Given the description of an element on the screen output the (x, y) to click on. 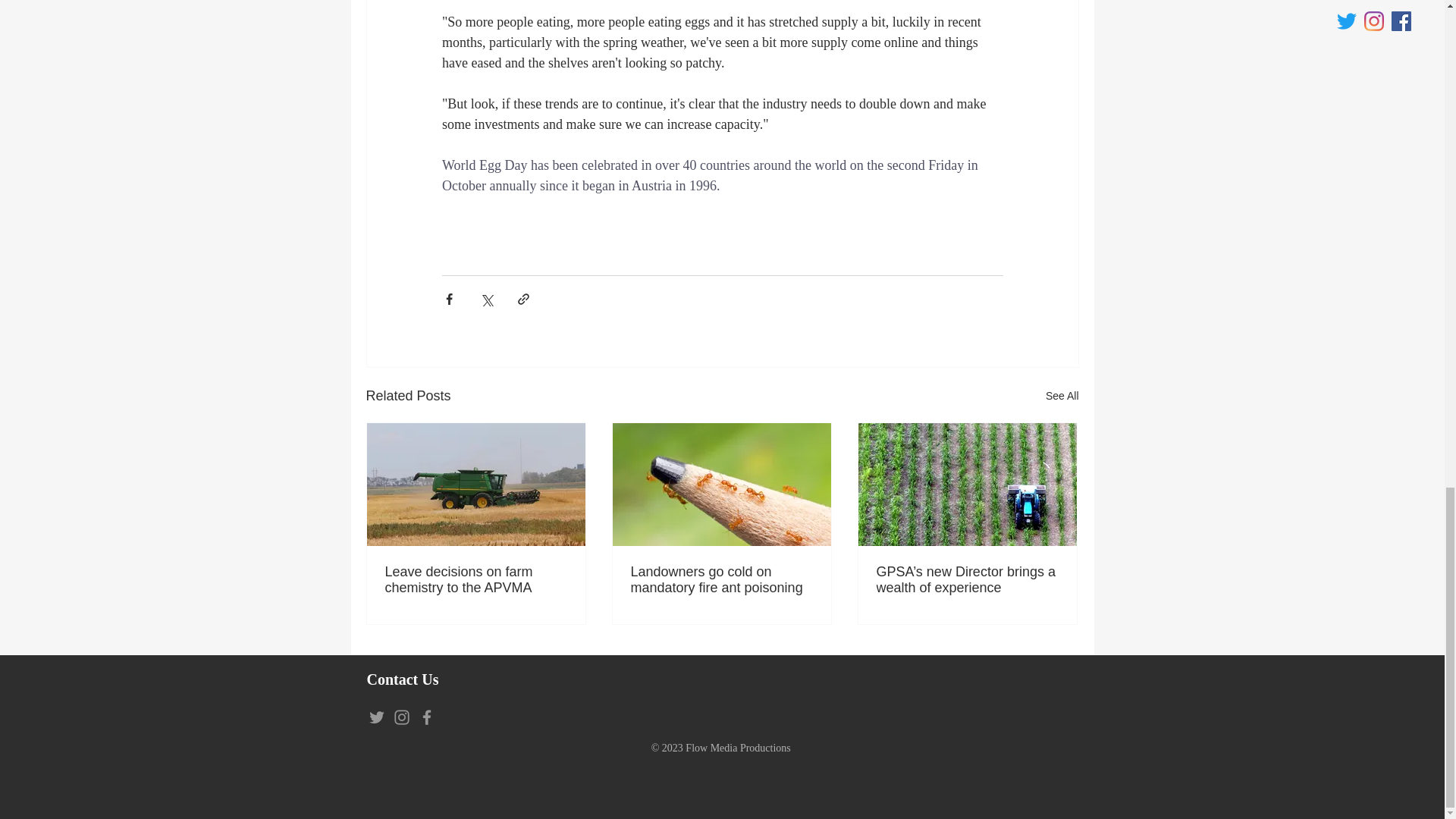
See All (1061, 395)
Landowners go cold on mandatory fire ant poisoning (721, 580)
Leave decisions on farm chemistry to the APVMA (476, 580)
